Given the description of an element on the screen output the (x, y) to click on. 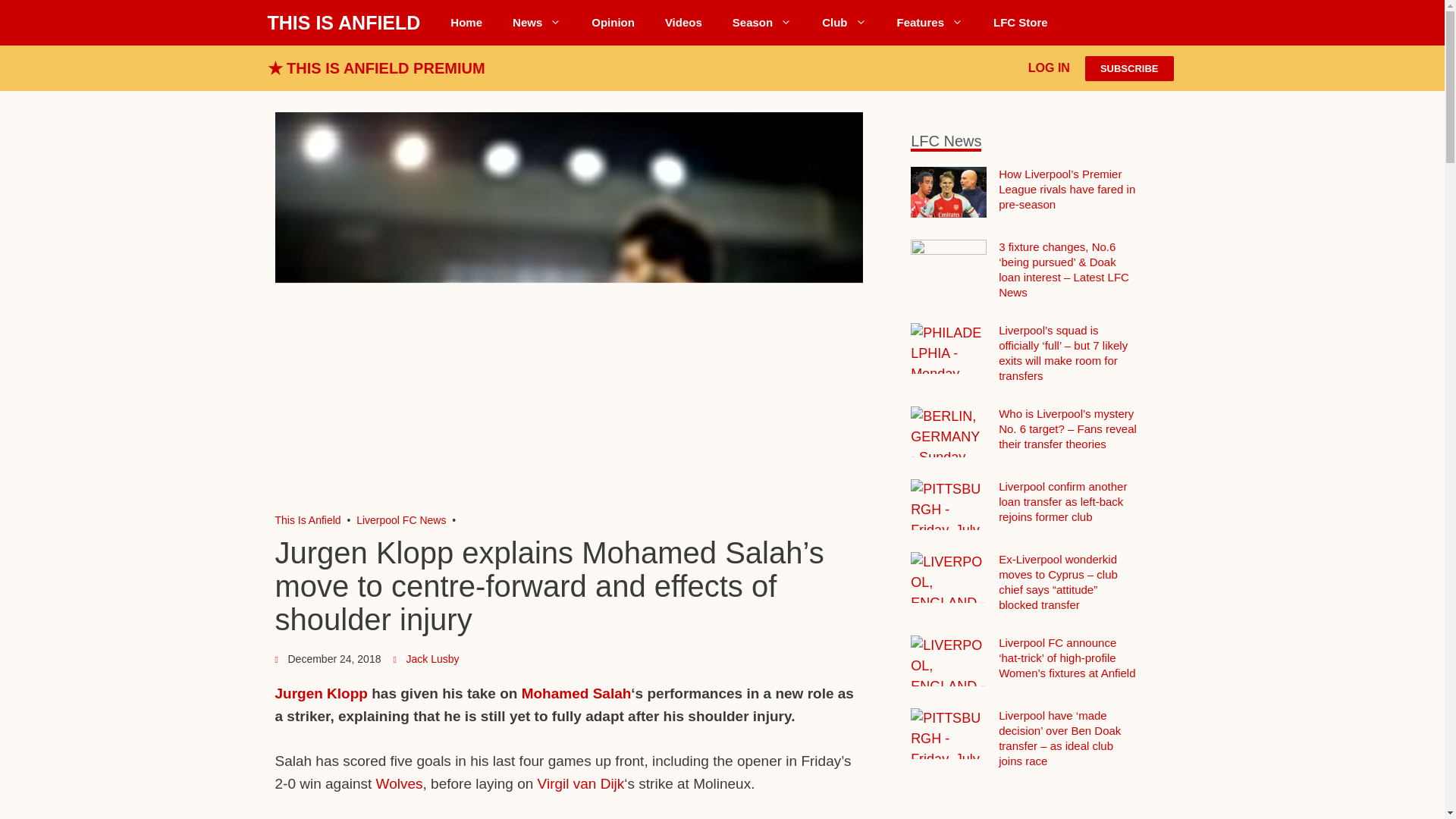
Liverpool FC Features (929, 22)
Liverpool FC Videos (683, 22)
THIS IS ANFIELD (343, 22)
Features (929, 22)
Liverpool FC Opinion (612, 22)
Club (843, 22)
Wolves (399, 783)
Home (466, 22)
Liverpool FC News (536, 22)
Videos (683, 22)
Mohamed Salah (576, 693)
News (536, 22)
Go to the Liverpool FC News category archives. (400, 520)
Opinion (612, 22)
Season (761, 22)
